Given the description of an element on the screen output the (x, y) to click on. 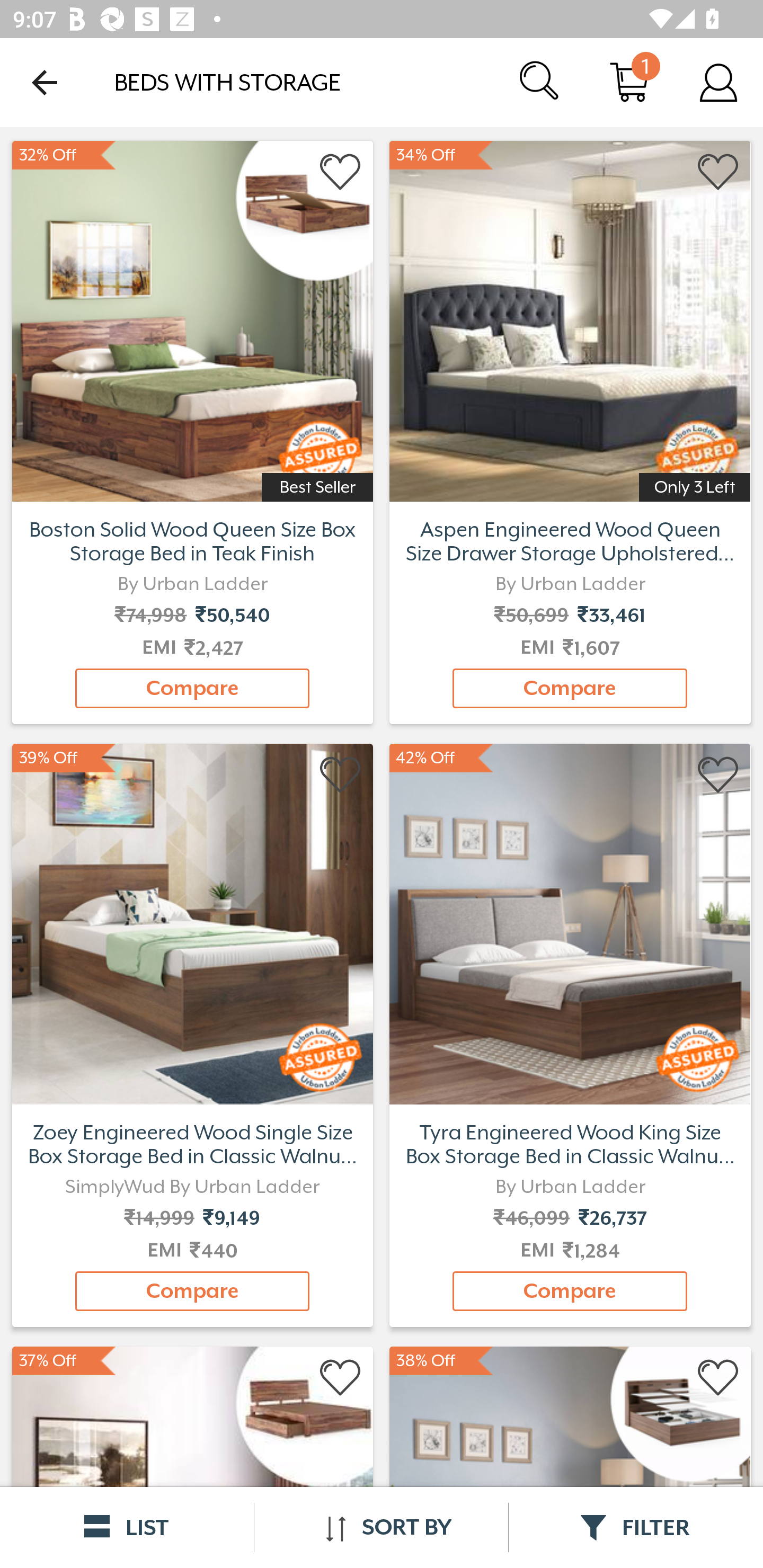
Navigate up (44, 82)
Search (540, 81)
Cart (629, 81)
Account Details (718, 81)
 (341, 172)
 (718, 172)
Compare (192, 687)
Compare (569, 687)
 (341, 775)
 (718, 775)
Compare (192, 1290)
Compare (569, 1290)
 (341, 1377)
 (718, 1377)
 LIST (127, 1527)
SORT BY (381, 1527)
 FILTER (635, 1527)
